Given the description of an element on the screen output the (x, y) to click on. 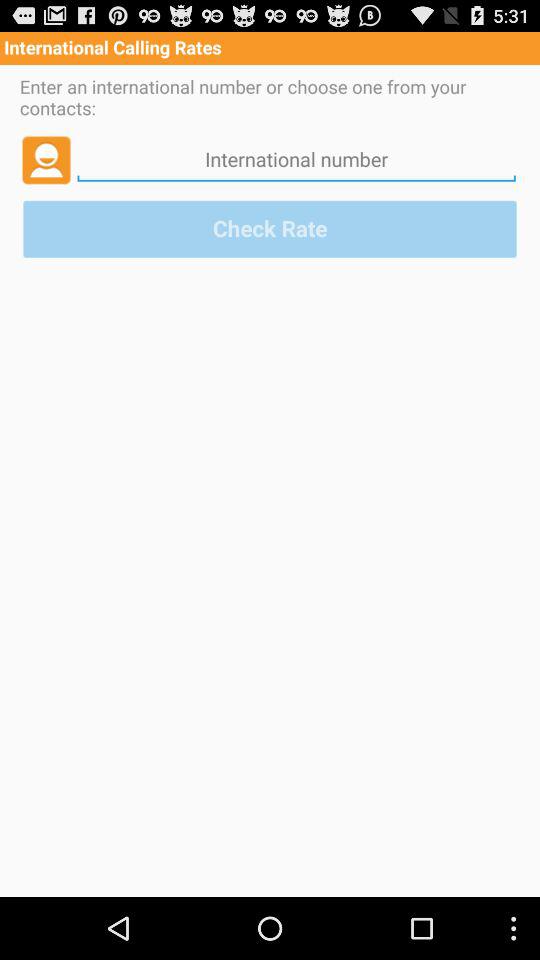
launch the icon at the top left corner (46, 159)
